Given the description of an element on the screen output the (x, y) to click on. 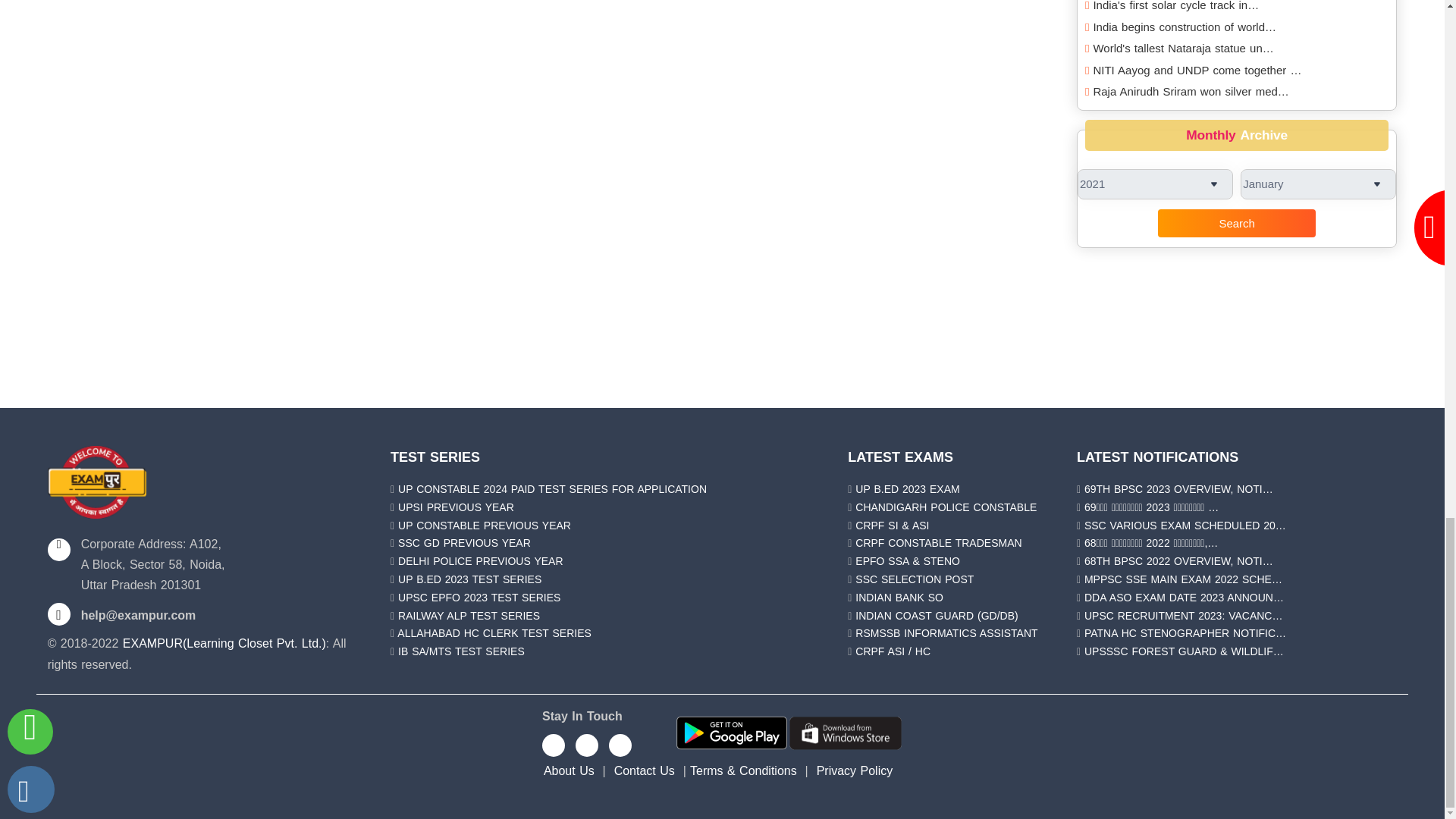
SSC VARIOUS EXAM SCHEDULED 2022: CHECK YOUR EXAM DATE HERE (1184, 525)
MPPSC SSE MAIN EXAM 2022 SCHEDULE: GET YOUR ADMIT CARD (1183, 579)
DDA ASO EXAM DATE 2023 ANNOUNCED: ADMIT CARD DETAILS (1184, 597)
